Given the description of an element on the screen output the (x, y) to click on. 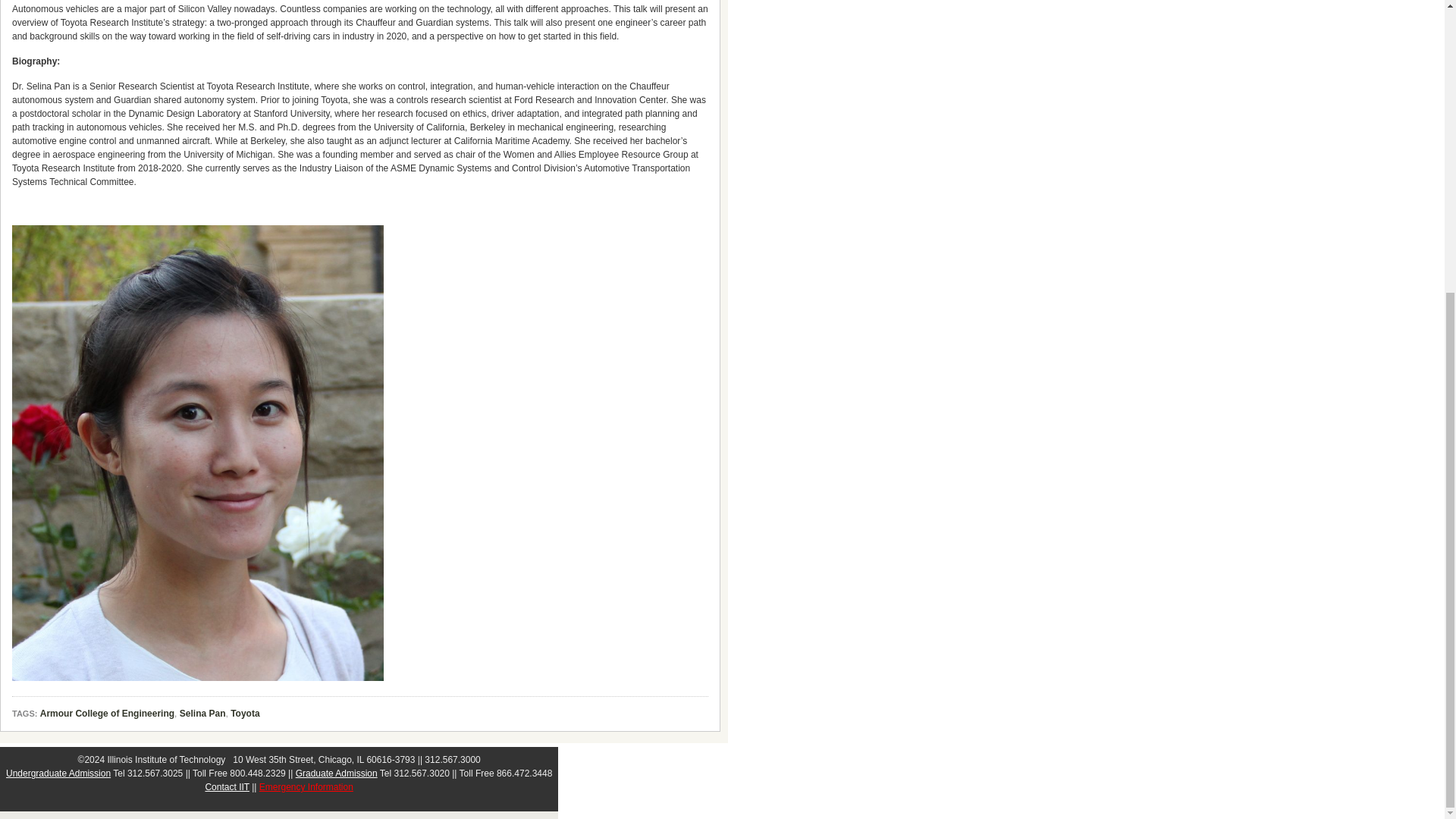
Emergency Information (306, 787)
Contact IIT (226, 787)
Undergraduate Admission (57, 773)
Graduate Admission (336, 773)
Toyota (244, 714)
Contact IIT (226, 787)
Selina Pan (202, 714)
Armour College of Engineering (107, 714)
